Given the description of an element on the screen output the (x, y) to click on. 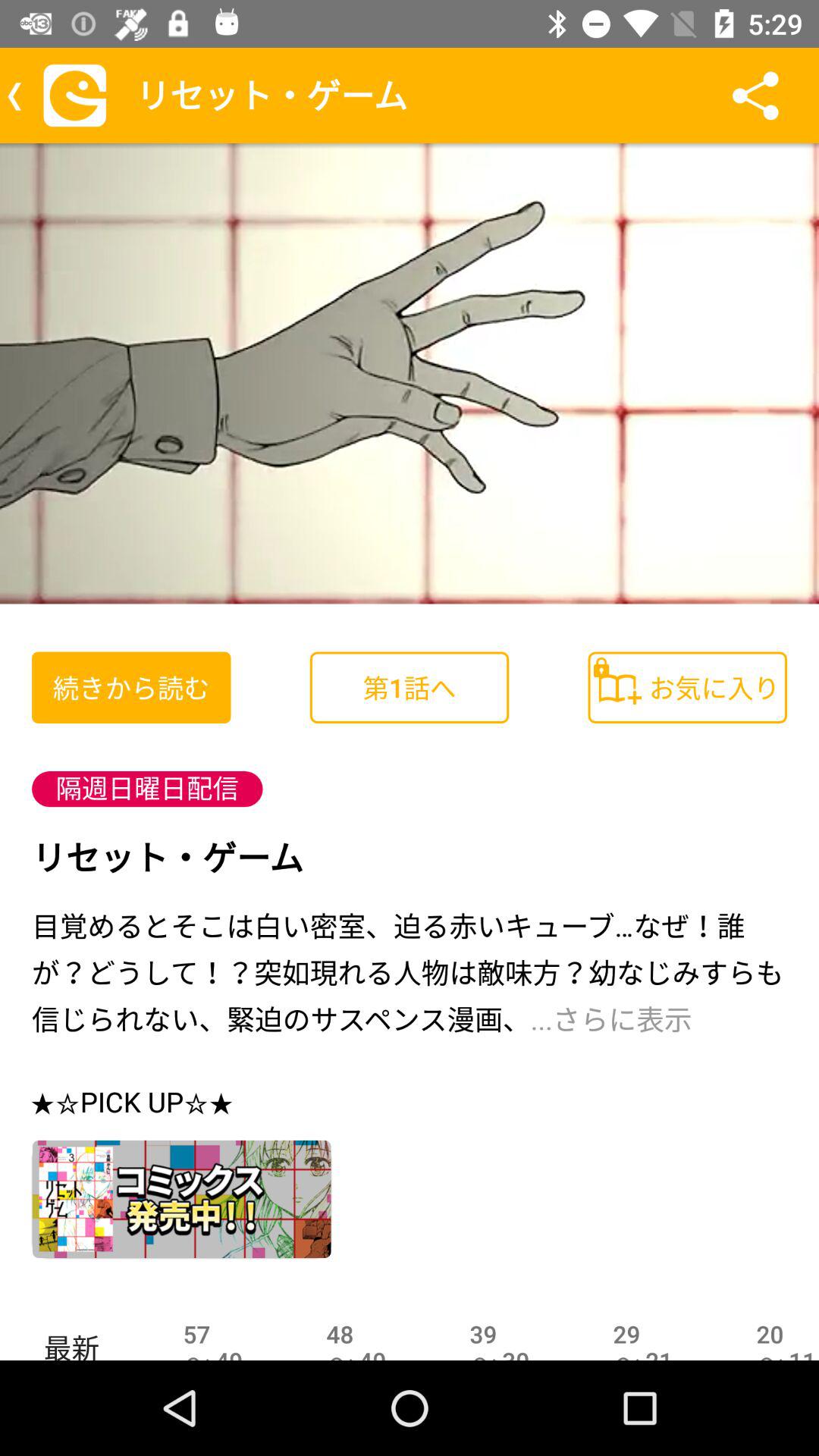
click the share button on right corner (755, 95)
